Given the description of an element on the screen output the (x, y) to click on. 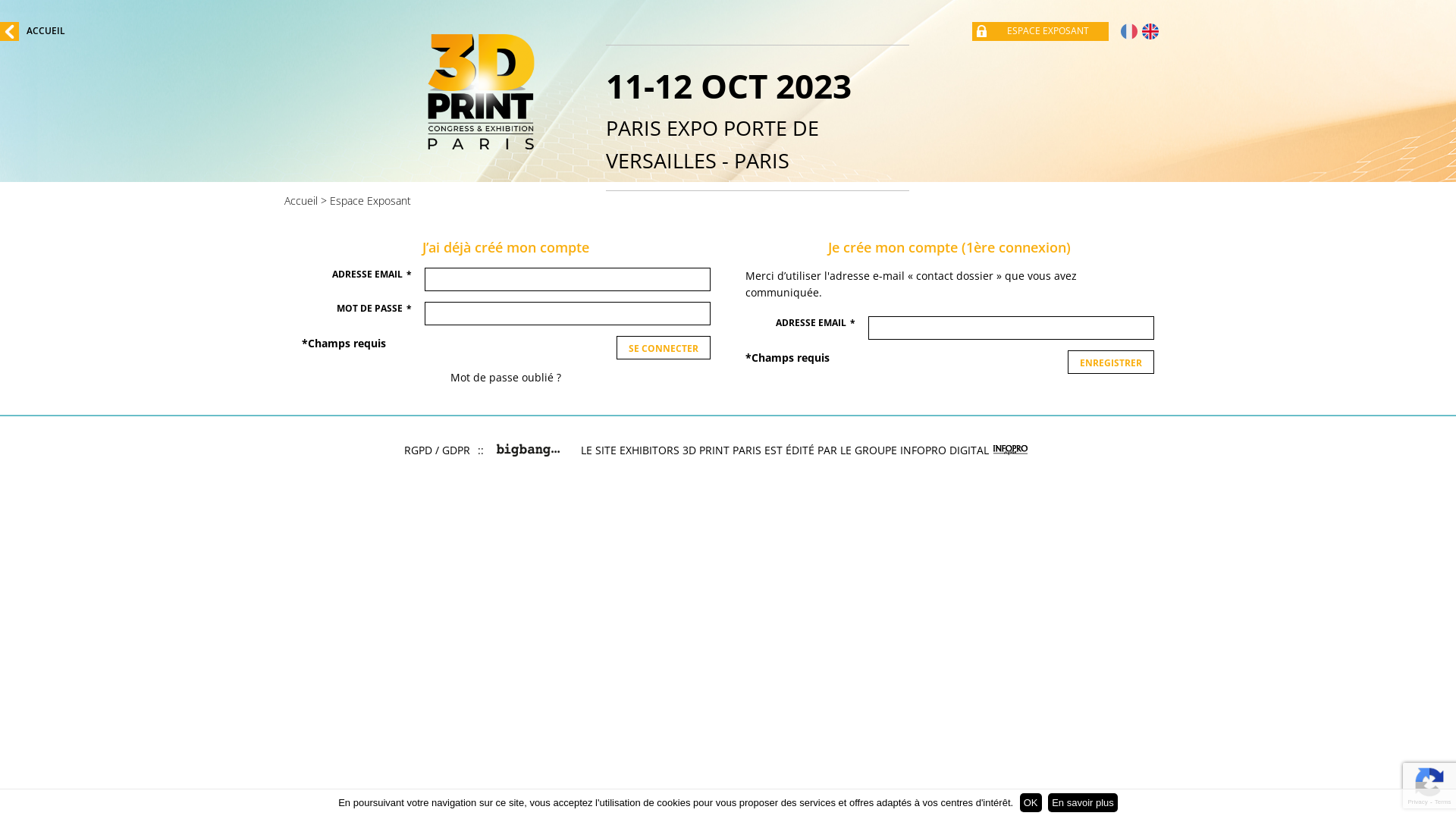
ENREGISTRER Element type: text (1110, 361)
HTTPS://WWW.INFOPRO-DIGITAL.COM/ Element type: text (1010, 449)
SE CONNECTER Element type: text (663, 347)
En savoir plus Element type: text (1082, 802)
Accueil Element type: text (300, 200)
https://bigbang.fr Element type: text (528, 449)
EN Element type: text (1150, 30)
Espace Exposant Element type: text (370, 200)
OK Element type: text (1030, 802)
RGPD / GDPR Element type: text (436, 449)
ESPACE EXPOSANT Element type: text (1043, 30)
ACCUEIL Element type: text (32, 30)
